Given the description of an element on the screen output the (x, y) to click on. 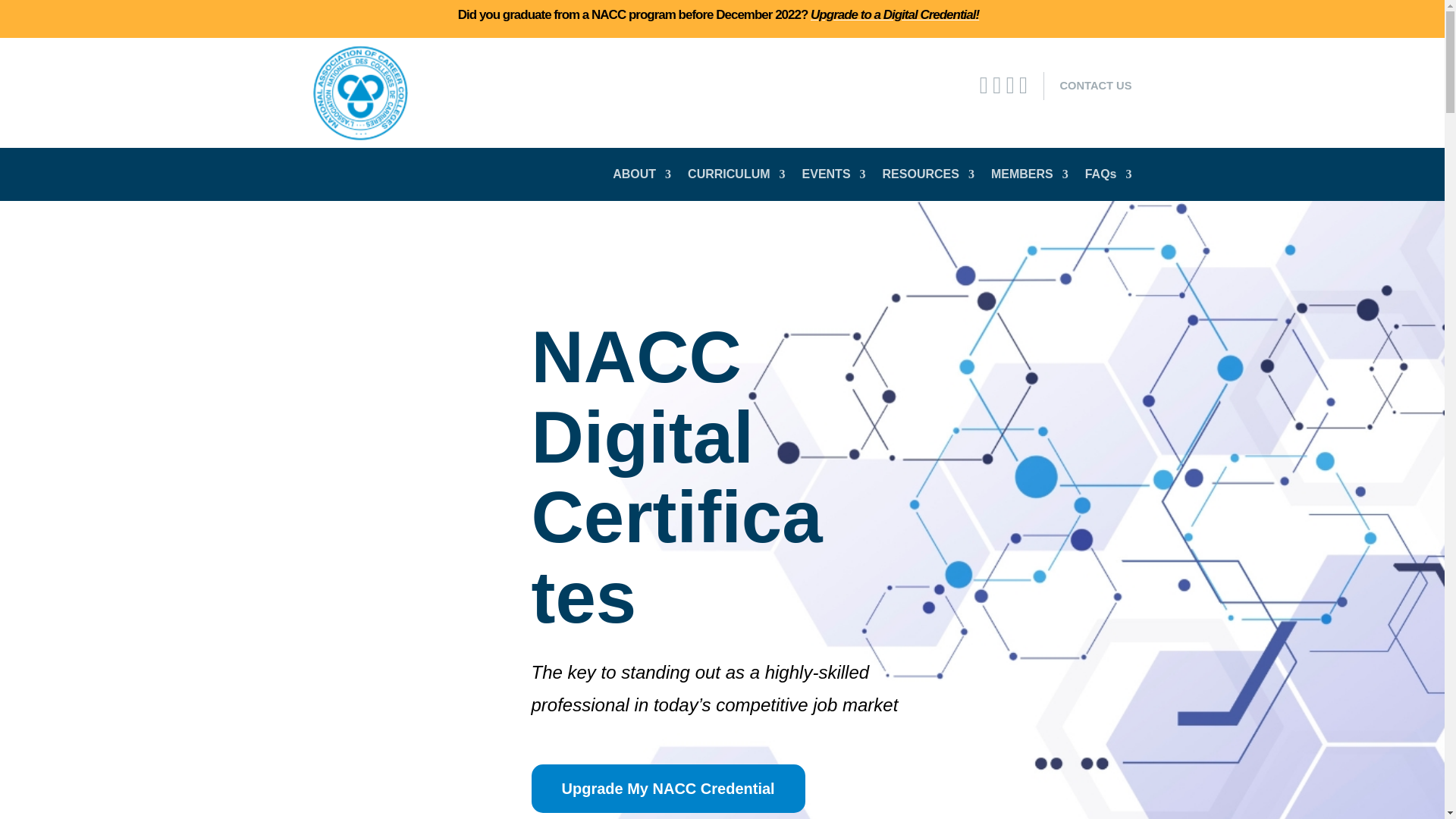
ABOUT (641, 176)
FAQs (1108, 176)
RESOURCES (928, 176)
EVENTS (834, 176)
CONTACT US (1095, 85)
NACC-logo-100x100 (360, 92)
Upgrade to a Digital Credential! (894, 14)
CURRICULUM (735, 176)
MEMBERS (1029, 176)
